Given the description of an element on the screen output the (x, y) to click on. 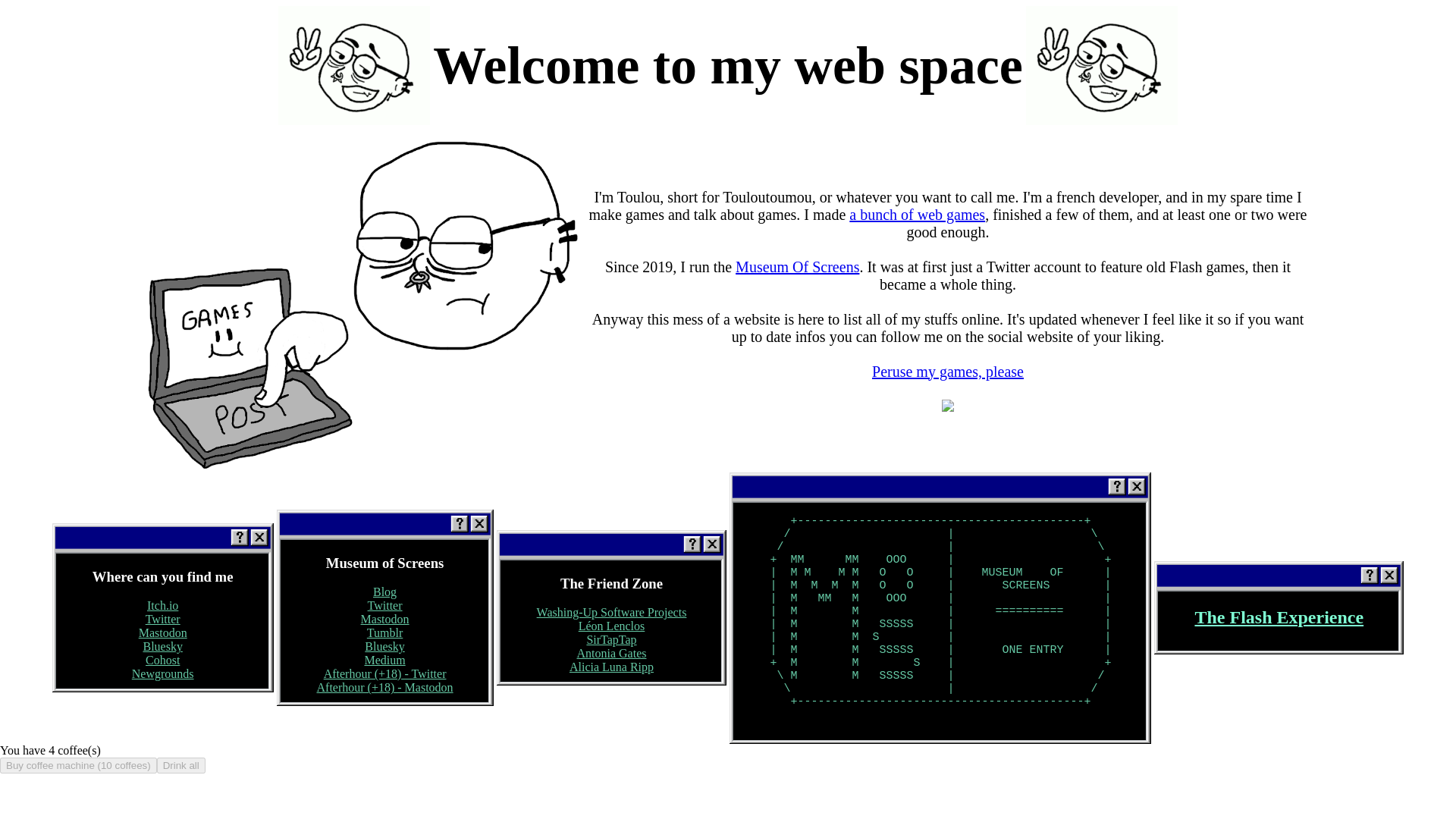
Antonia Gates (611, 653)
SirTapTap (611, 639)
Bluesky (162, 645)
Cohost (162, 659)
Newgrounds (162, 673)
Blog (384, 591)
Bluesky (384, 645)
Twitter (385, 604)
The Flash Experience (1277, 617)
Itch.io (162, 604)
